Given the description of an element on the screen output the (x, y) to click on. 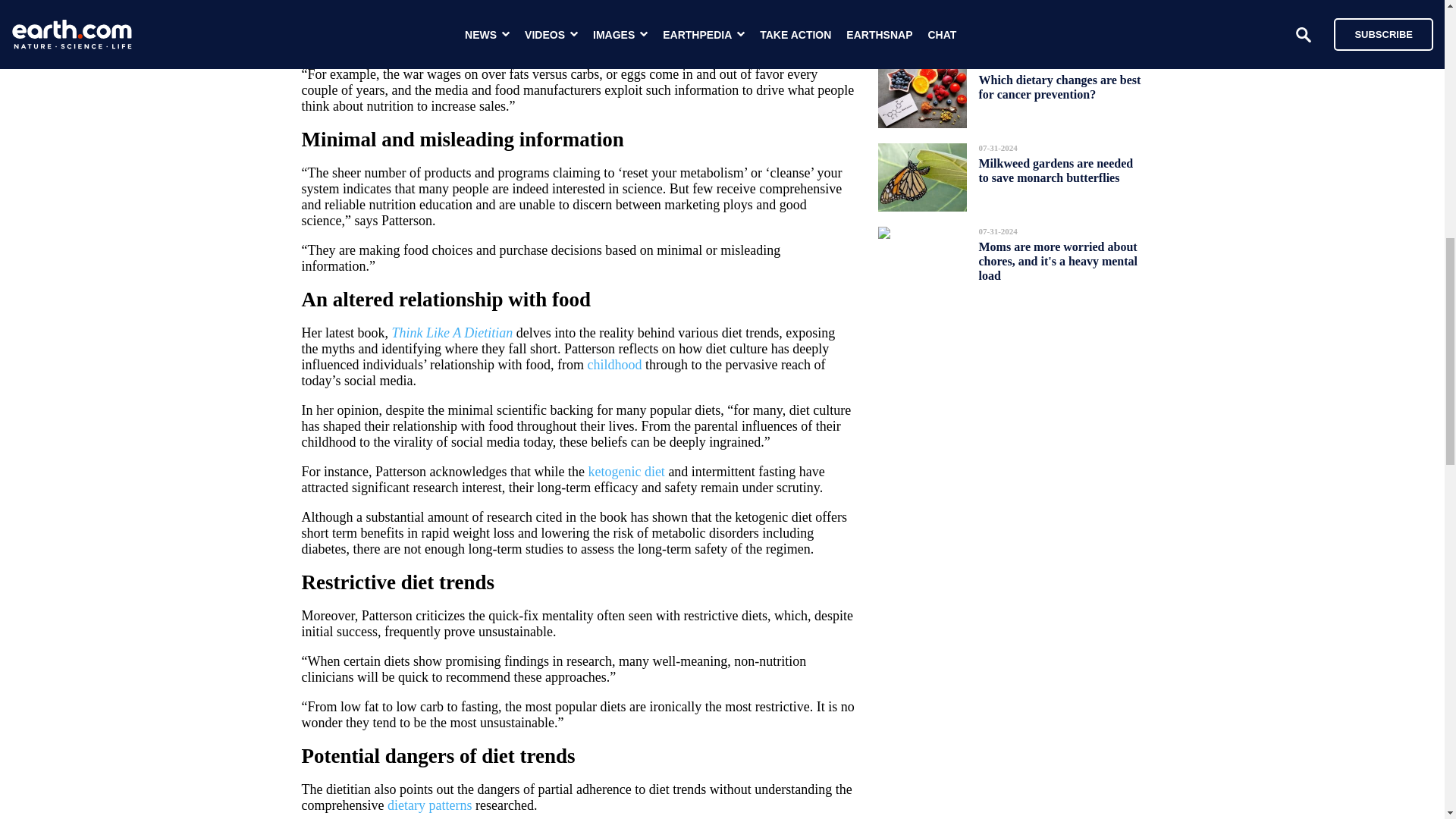
dietary patterns (429, 805)
Children who eat breakfast are happier in life (1058, 12)
ketogenic diet (625, 471)
Think Like A Dietitian (451, 332)
childhood (615, 364)
